Given the description of an element on the screen output the (x, y) to click on. 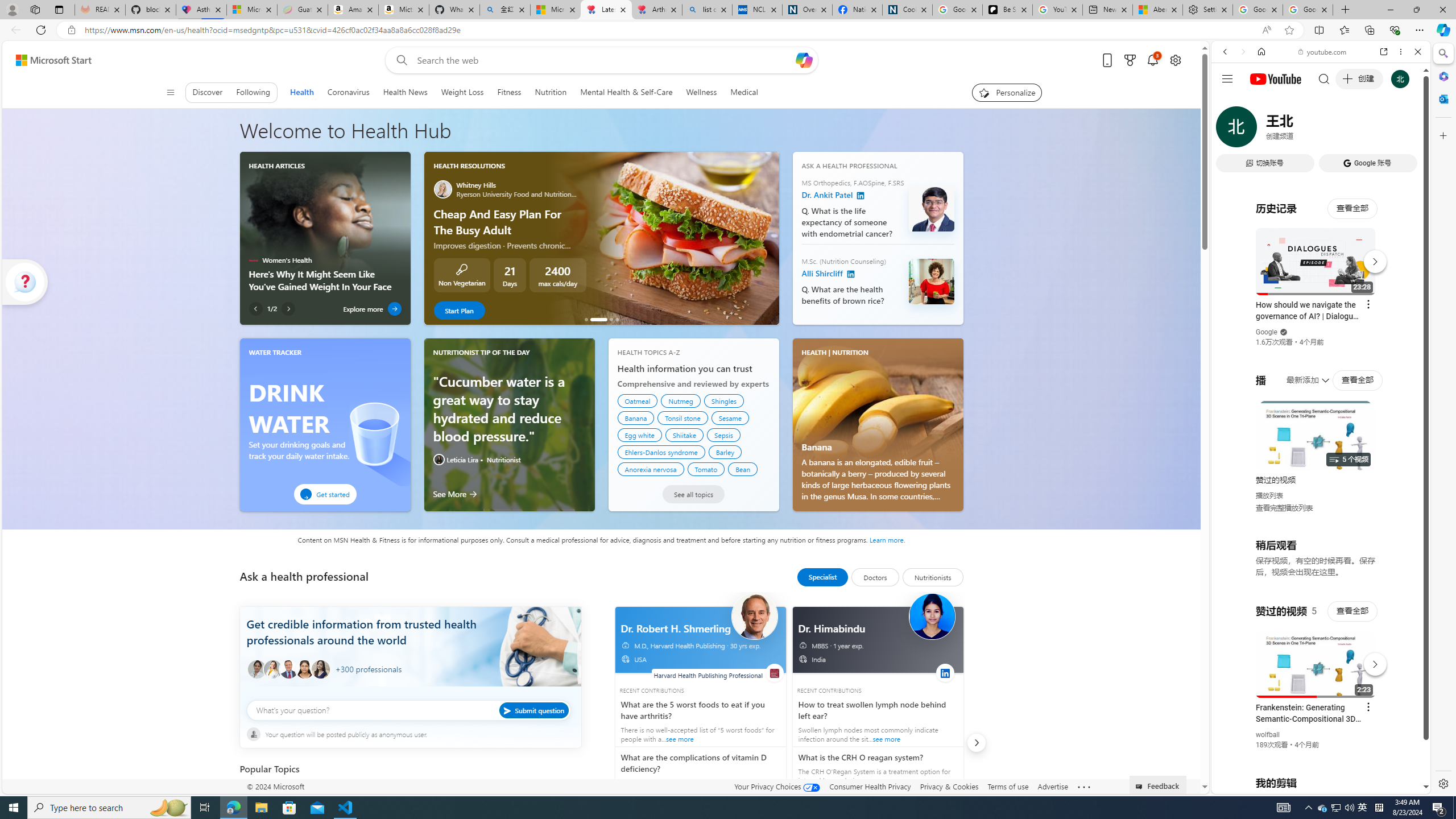
Open settings (1175, 60)
Global web icon (1232, 655)
Personalize your feed" (1007, 92)
Health (301, 92)
Consumer Health Privacy (870, 786)
Pictorial representation of Stroke (262, 797)
Dr. Ankit Patel (930, 208)
